Given the description of an element on the screen output the (x, y) to click on. 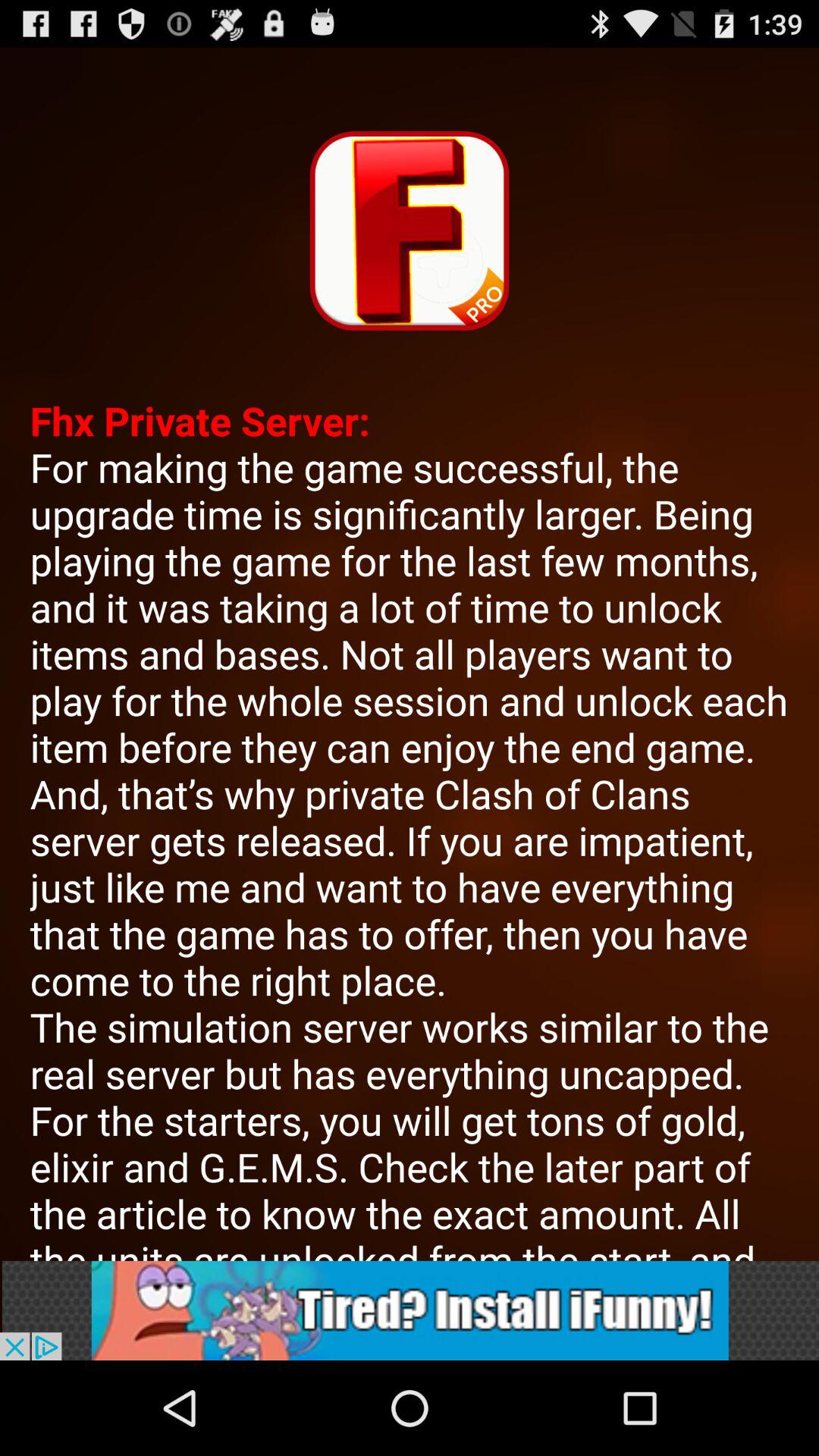
advertising (409, 1310)
